Given the description of an element on the screen output the (x, y) to click on. 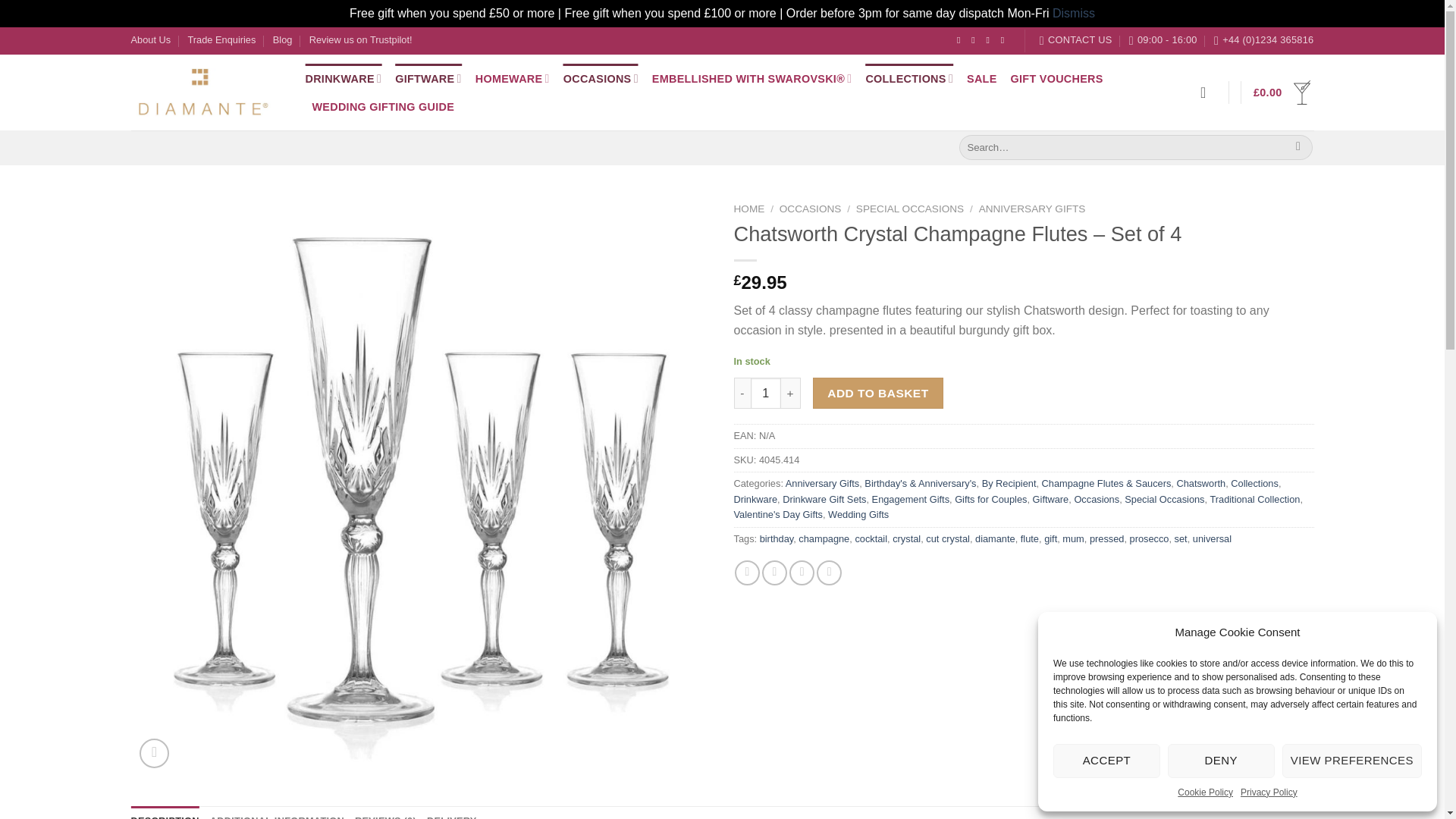
Dismiss (1073, 12)
DENY (1221, 760)
ACCEPT (1106, 760)
Cookie Policy (1205, 792)
Trade Enquiries (221, 39)
Privacy Policy (1268, 792)
CONTACT US (1075, 39)
VIEW PREFERENCES (1352, 760)
About Us (150, 39)
